Given the description of an element on the screen output the (x, y) to click on. 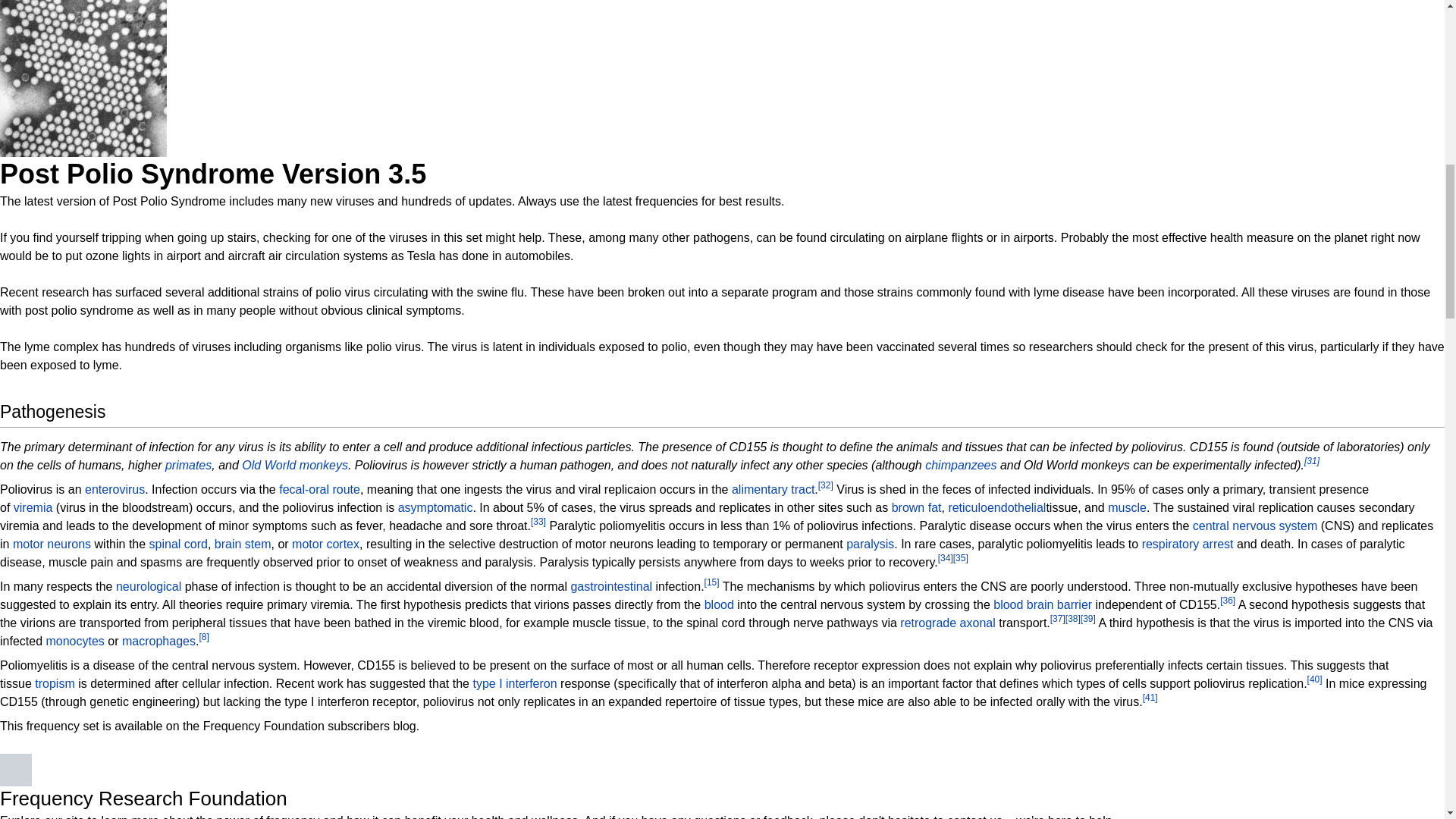
fecal-oral route (319, 489)
Enterovirus (114, 489)
Reticuloendothelial (996, 507)
viremia (32, 507)
Fecal-oral route (319, 489)
Viremia (32, 507)
Asymptomatic (435, 507)
Brown fat (916, 507)
Alimentary tract (772, 489)
primates (188, 464)
